Given the description of an element on the screen output the (x, y) to click on. 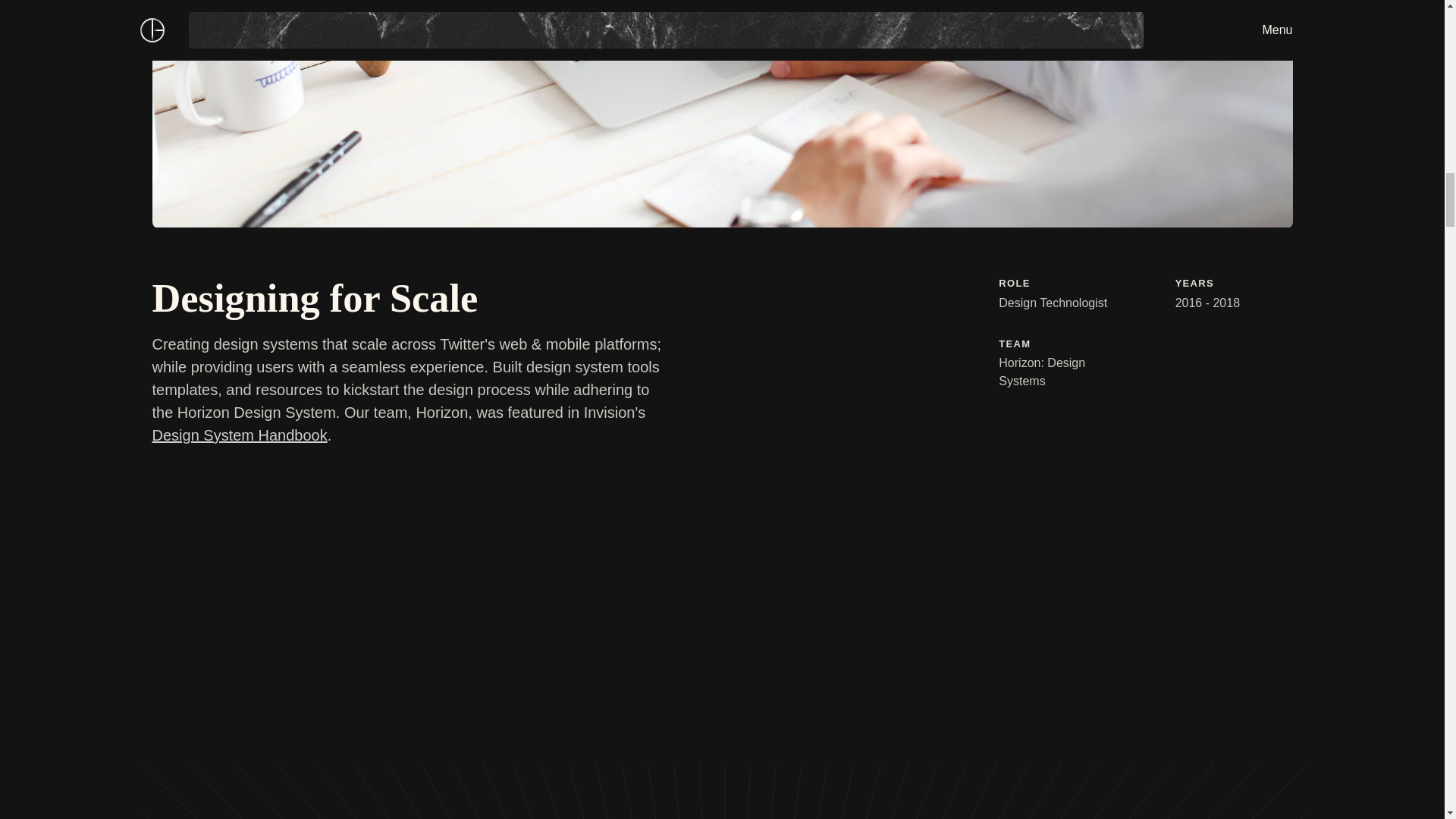
Design System Handbook (238, 434)
